Given the description of an element on the screen output the (x, y) to click on. 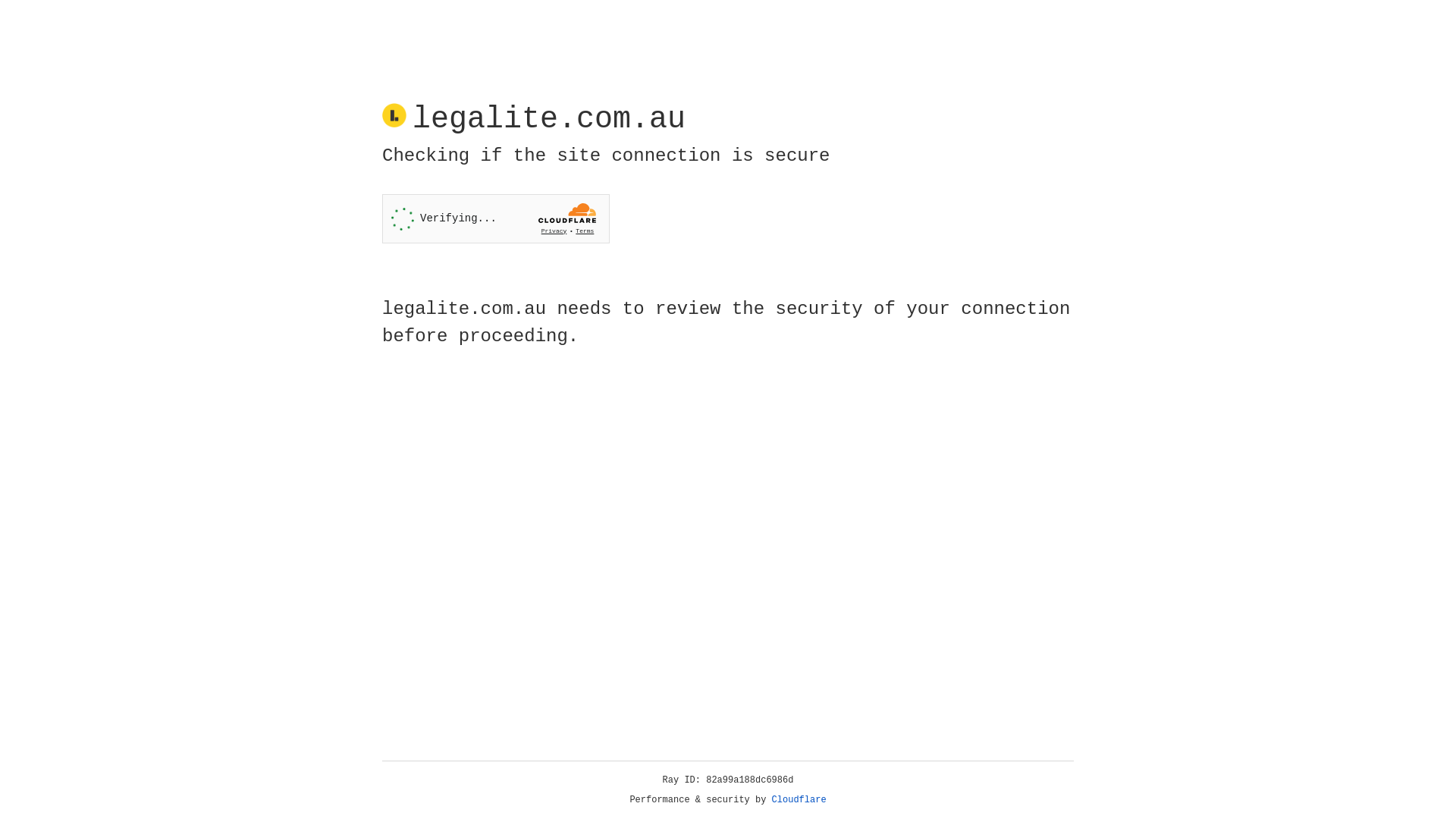
Widget containing a Cloudflare security challenge Element type: hover (495, 218)
Cloudflare Element type: text (798, 799)
